Given the description of an element on the screen output the (x, y) to click on. 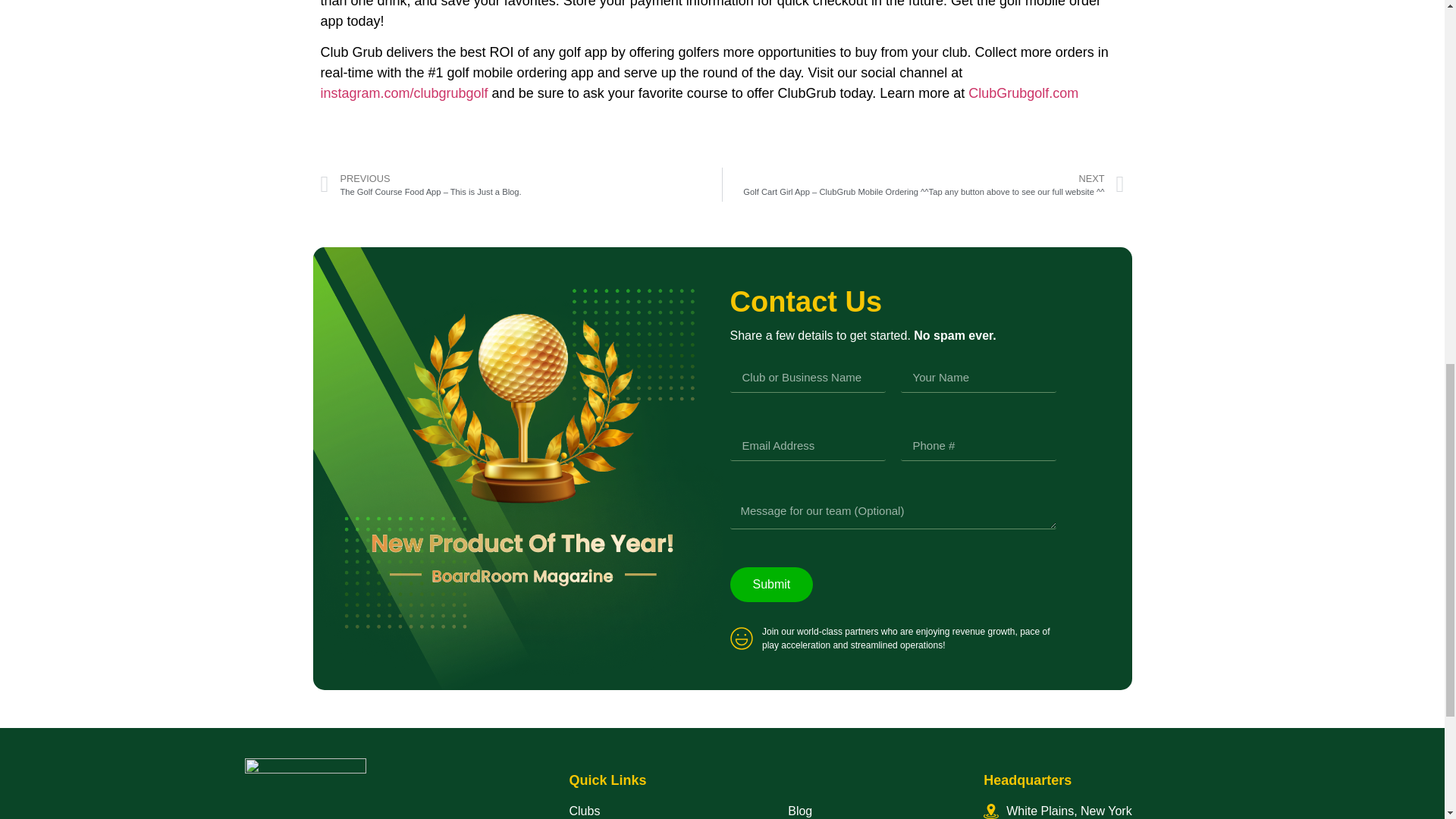
Blog (870, 810)
Clubs (663, 810)
Submit (770, 584)
ClubGrubgolf.com (1023, 92)
